Given the description of an element on the screen output the (x, y) to click on. 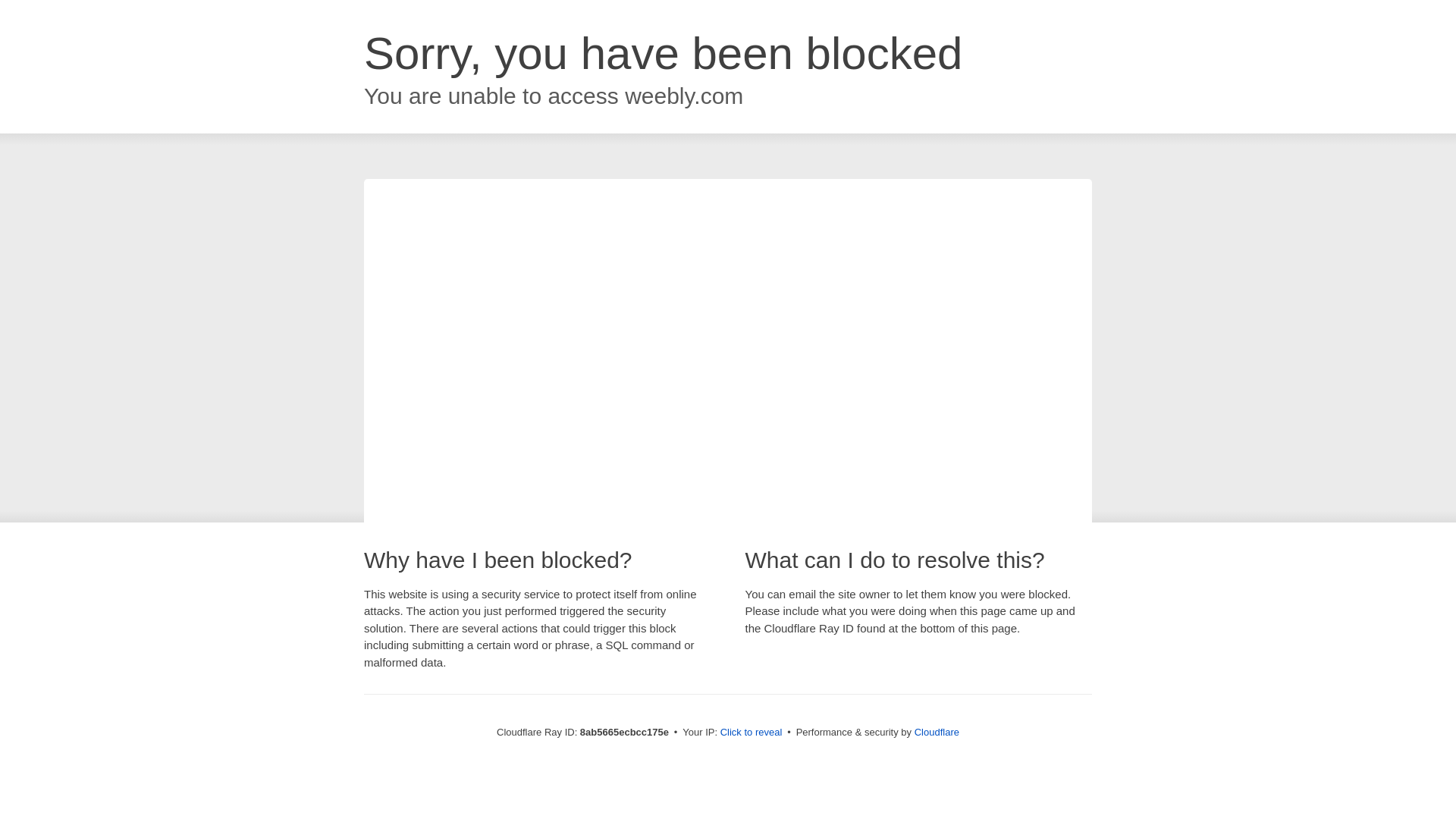
Click to reveal (751, 732)
Cloudflare (936, 731)
